Given the description of an element on the screen output the (x, y) to click on. 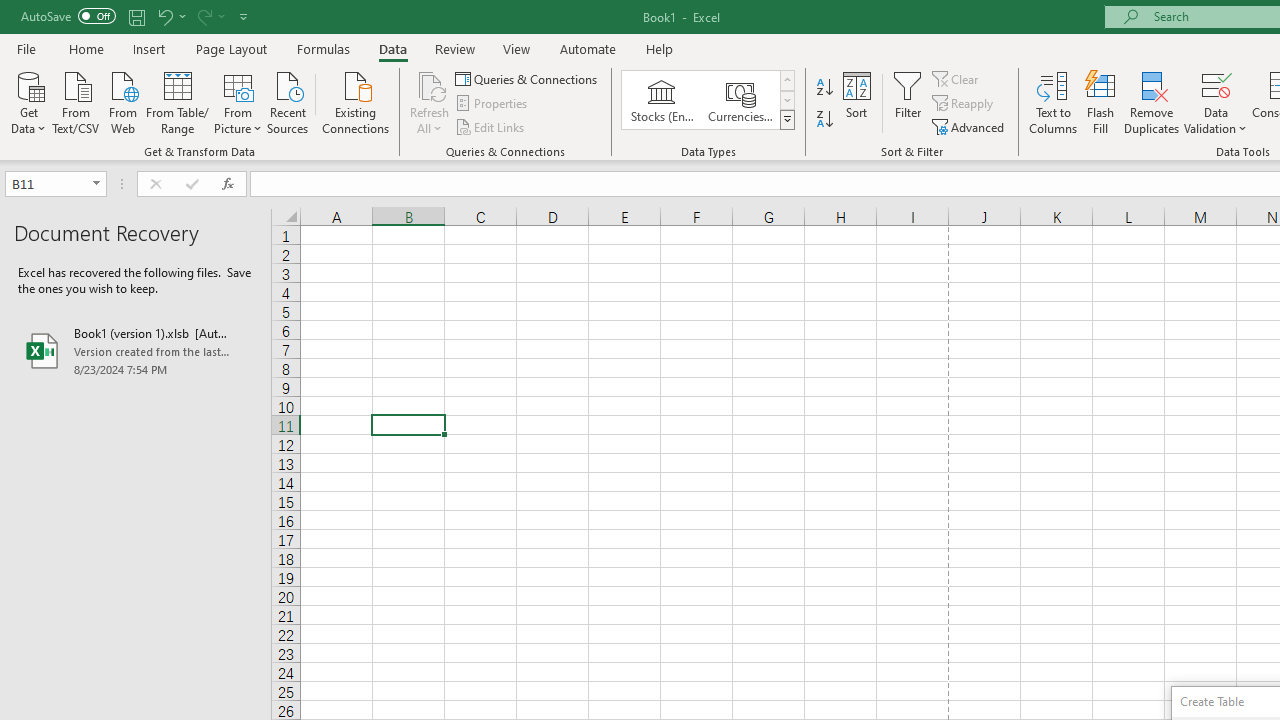
Properties (492, 103)
Row Down (786, 100)
Sort... (856, 102)
Edit Links (491, 126)
Reapply (964, 103)
